Given the description of an element on the screen output the (x, y) to click on. 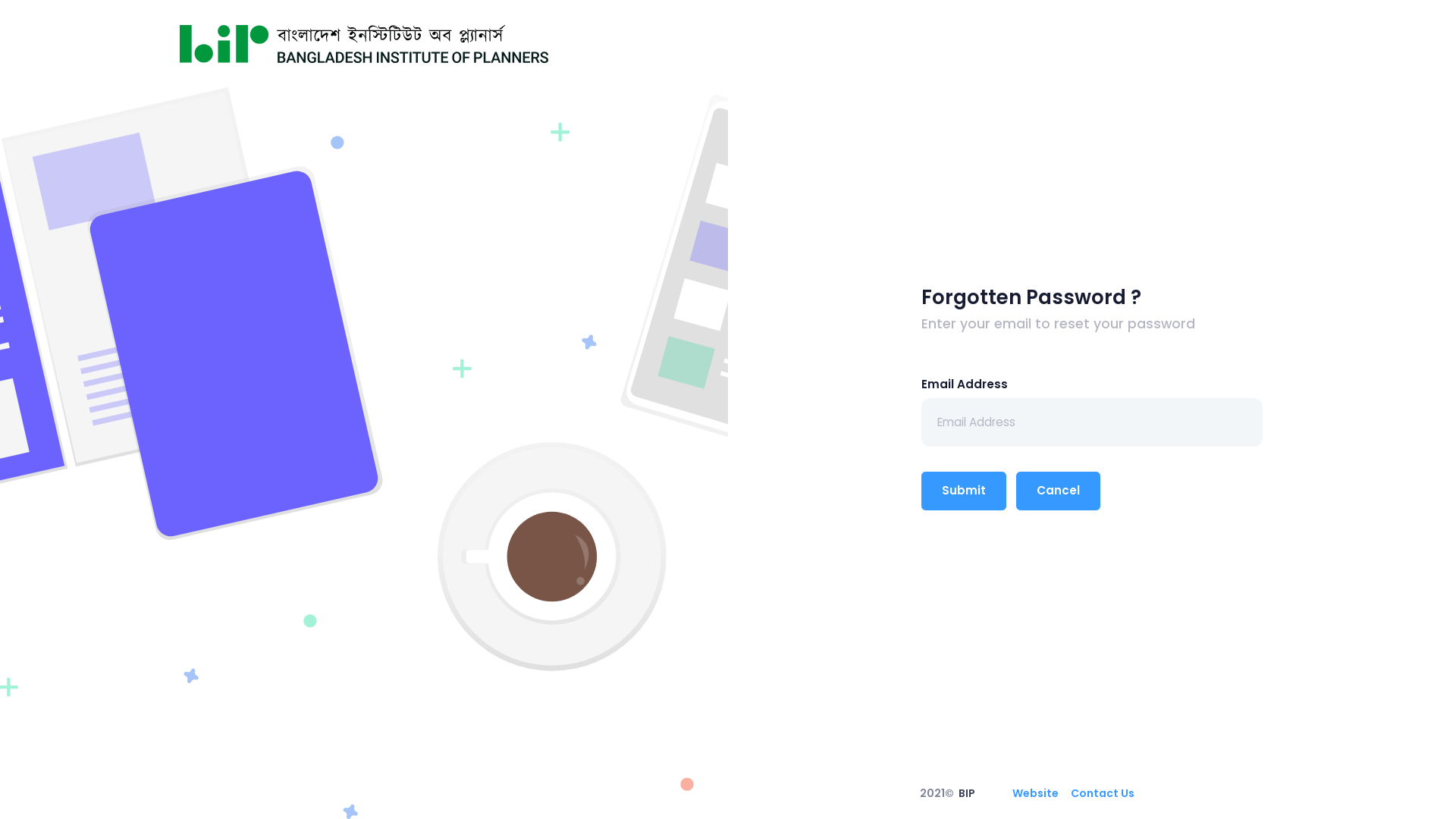
Submit Element type: text (963, 490)
Cancel Element type: text (1058, 490)
Website Element type: text (1035, 793)
Contact Us Element type: text (1102, 793)
BIP Element type: text (966, 792)
